Given the description of an element on the screen output the (x, y) to click on. 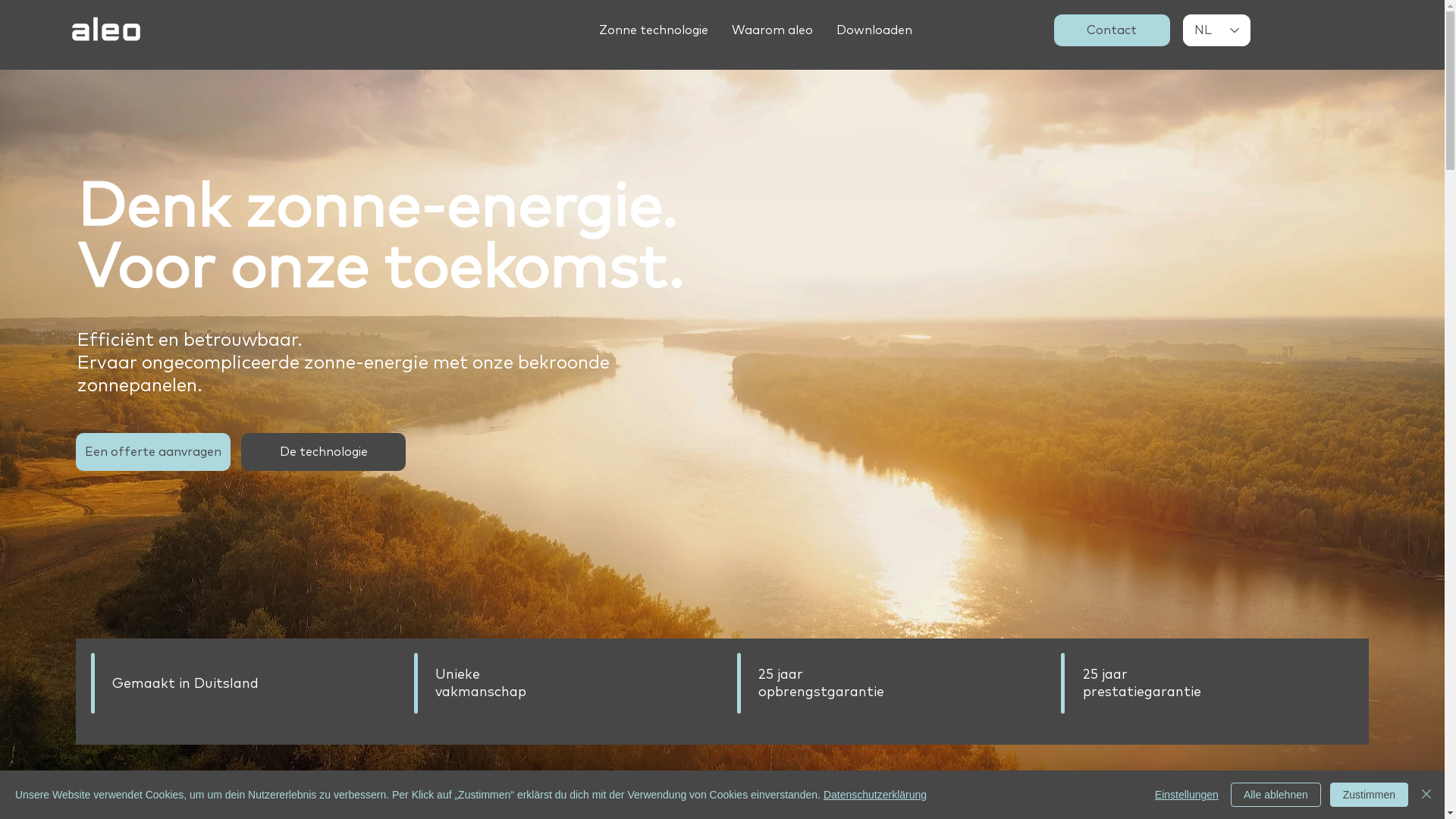
Een offerte aanvragen Element type: text (152, 451)
Contact Element type: text (1112, 30)
Alle ablehnen Element type: text (1275, 794)
Waarom aleo Element type: text (771, 29)
Zonne technologie Element type: text (653, 29)
De technologie Element type: text (323, 451)
Zustimmen Element type: text (1369, 794)
Downloaden Element type: text (873, 29)
